Given the description of an element on the screen output the (x, y) to click on. 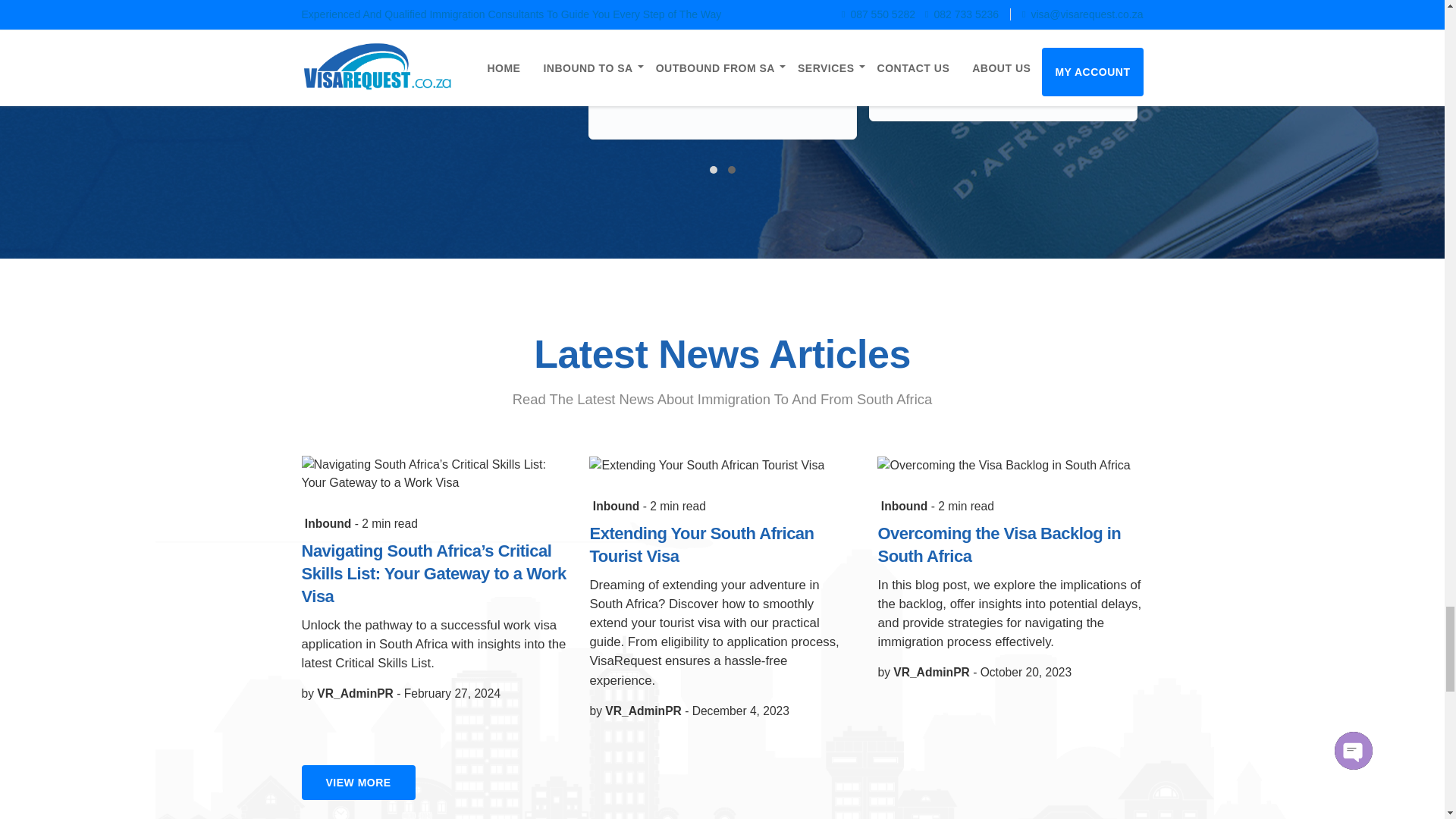
View More (357, 782)
